Given the description of an element on the screen output the (x, y) to click on. 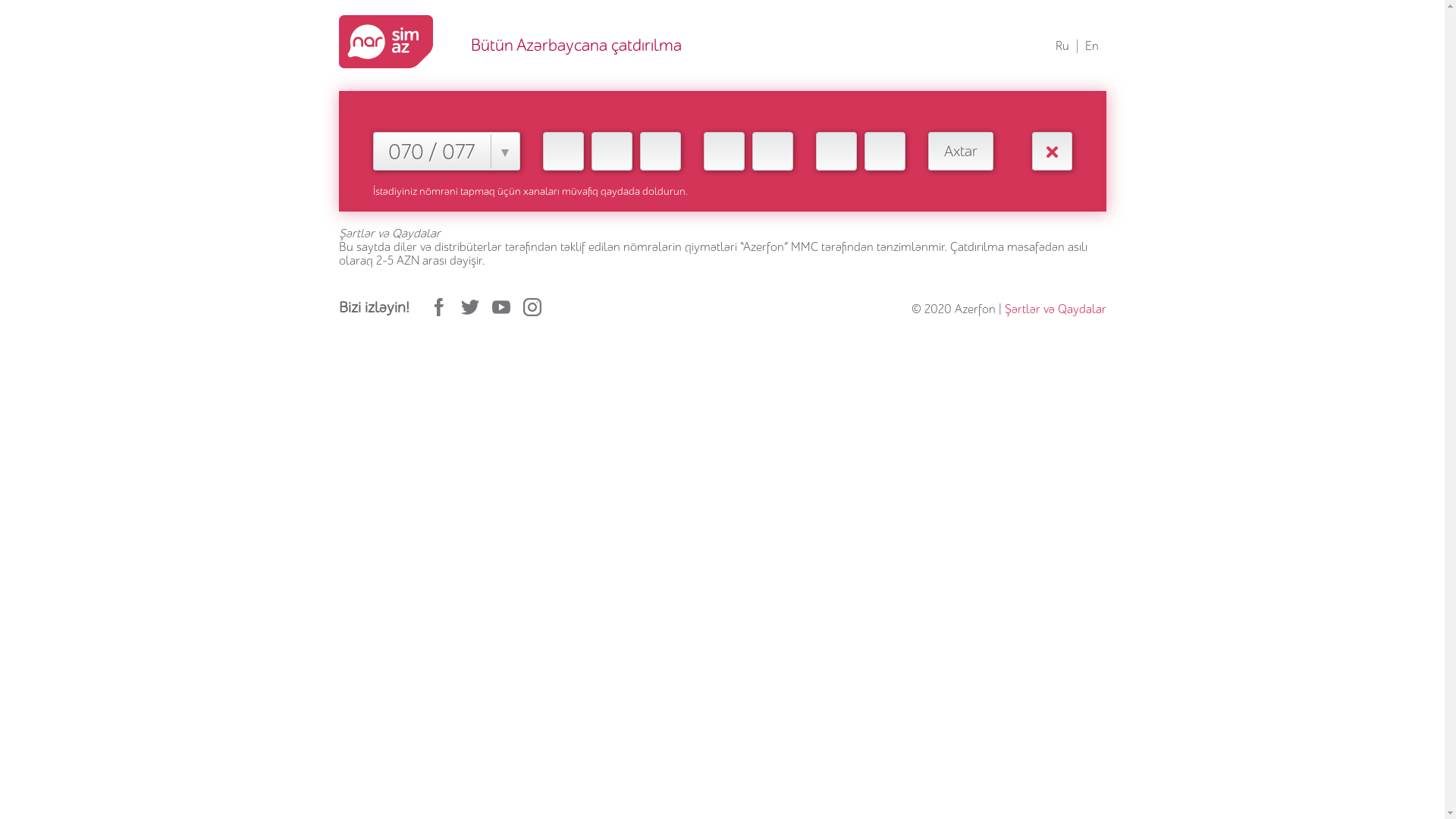
Axtar Element type: text (960, 150)
En Element type: text (1091, 46)
Ru Element type: text (1062, 46)
